Given the description of an element on the screen output the (x, y) to click on. 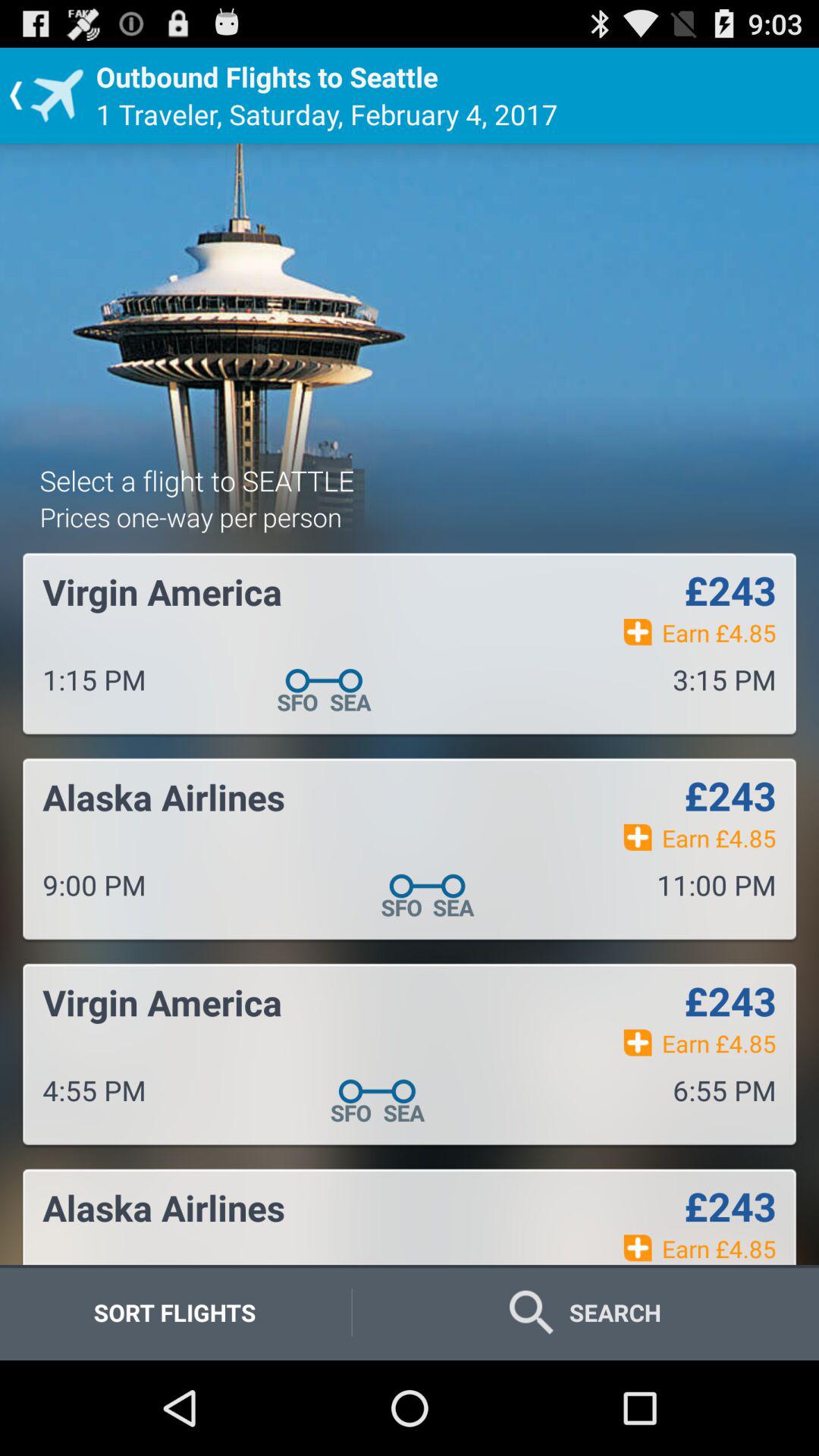
flip to the prices one way (190, 516)
